Given the description of an element on the screen output the (x, y) to click on. 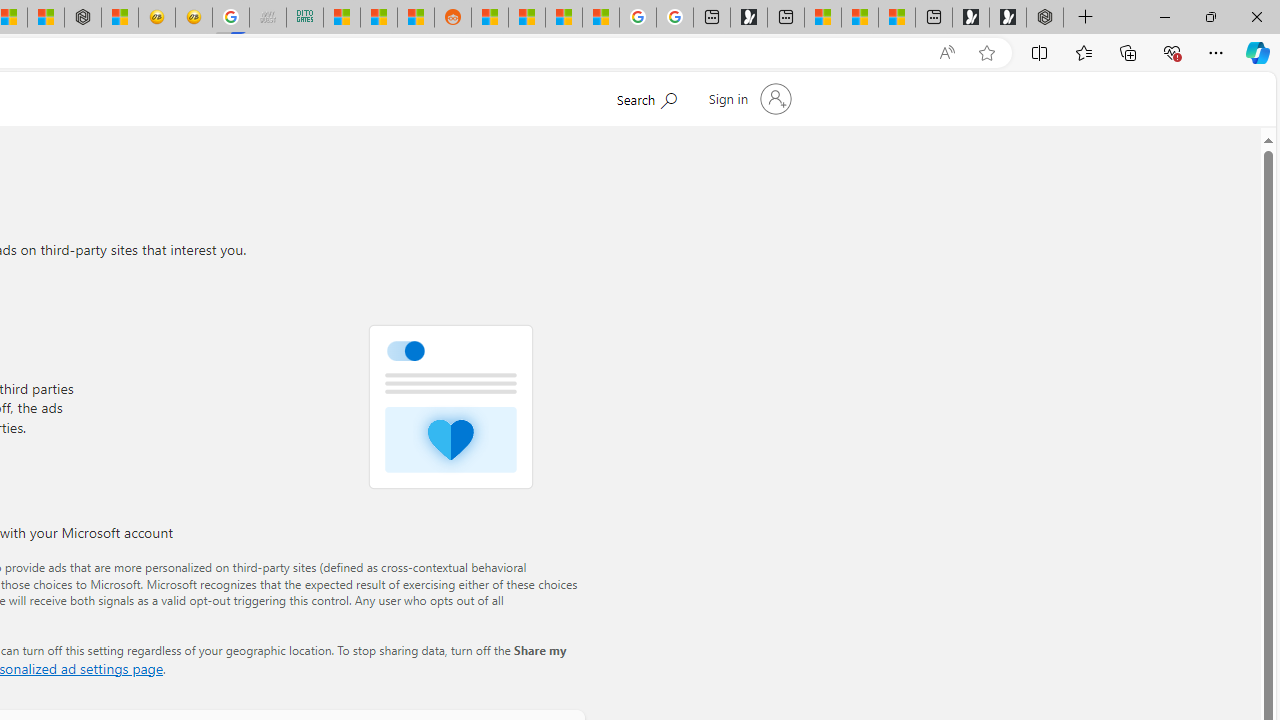
Search Microsoft.com (646, 97)
R******* | Trusted Community Engagement and Contributions (490, 17)
Sign in to your account (748, 98)
